Given the description of an element on the screen output the (x, y) to click on. 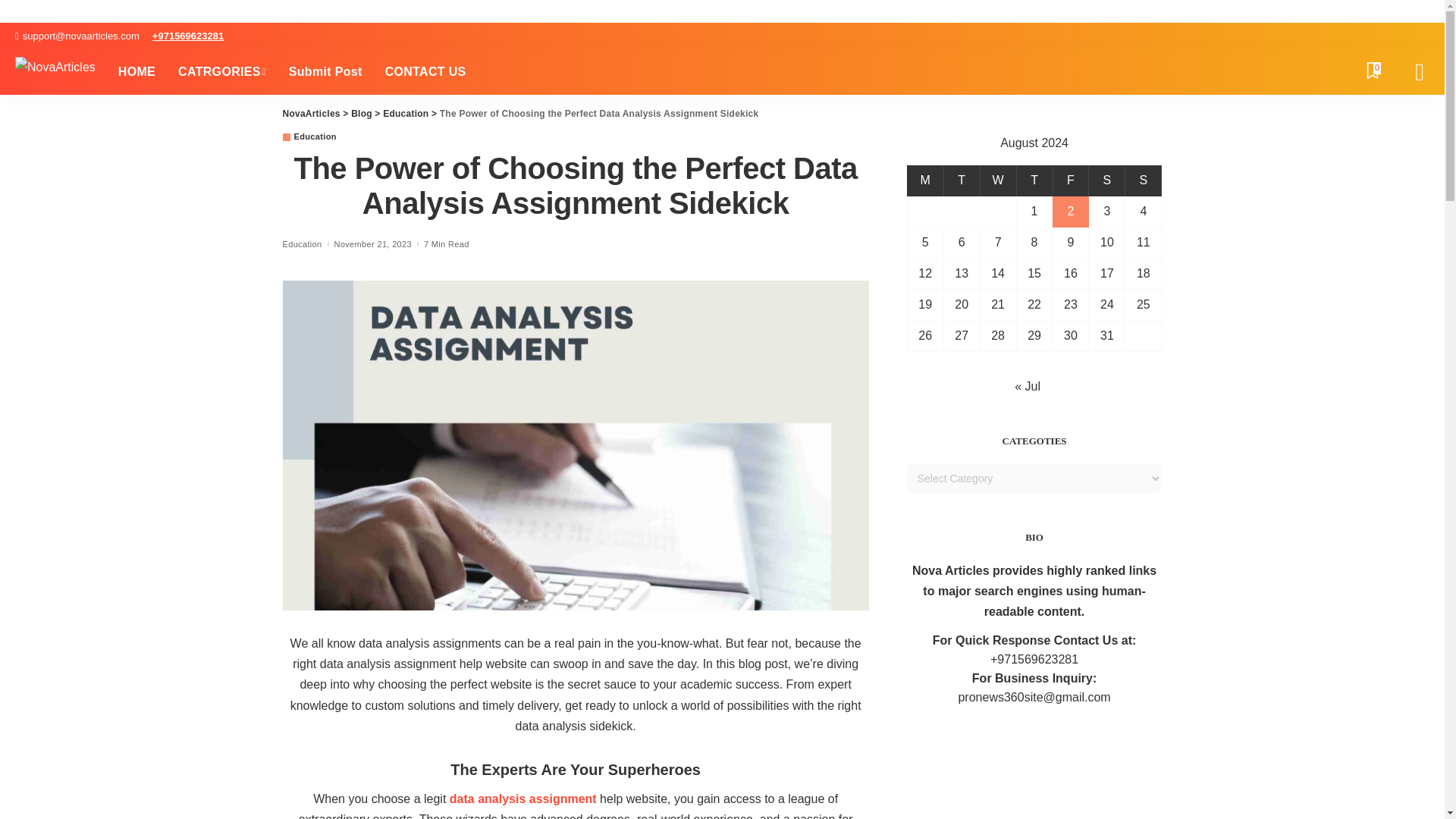
Submit Post (326, 72)
CATRGORIES (222, 72)
HOME (136, 72)
NovaArticles (55, 71)
